Given the description of an element on the screen output the (x, y) to click on. 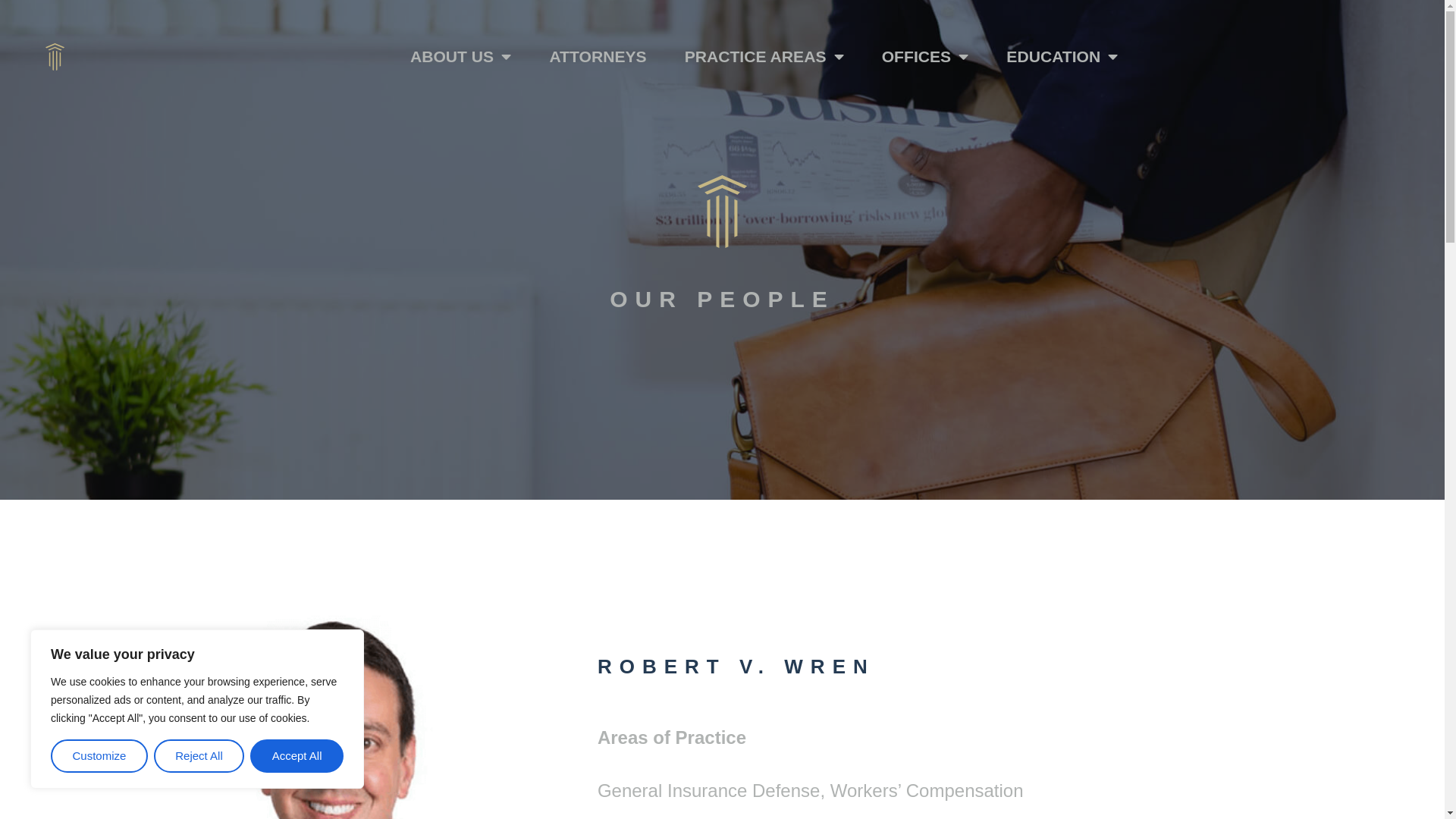
Reject All (199, 756)
Accept All (296, 756)
Customize (99, 756)
ATTORNEYS (597, 45)
PRACTICE AREAS (764, 46)
EDUCATION (1062, 55)
OFFICES (925, 51)
ABOUT US (460, 38)
